Given the description of an element on the screen output the (x, y) to click on. 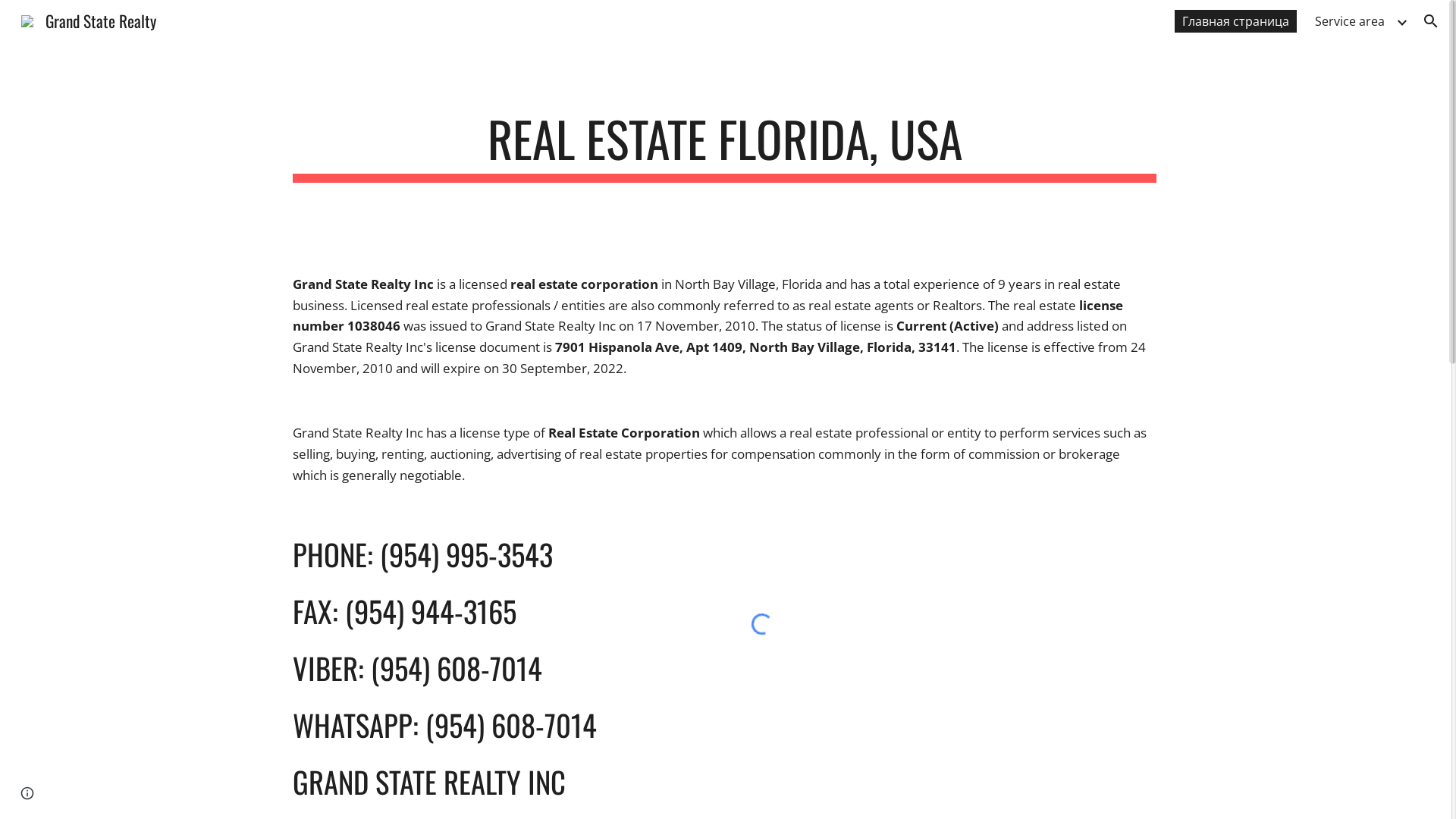
Service area Element type: text (1349, 20)
Grand State Realty Element type: text (88, 18)
Expand/Collapse Element type: hover (1401, 20)
Custom embed Element type: hover (761, 623)
